Given the description of an element on the screen output the (x, y) to click on. 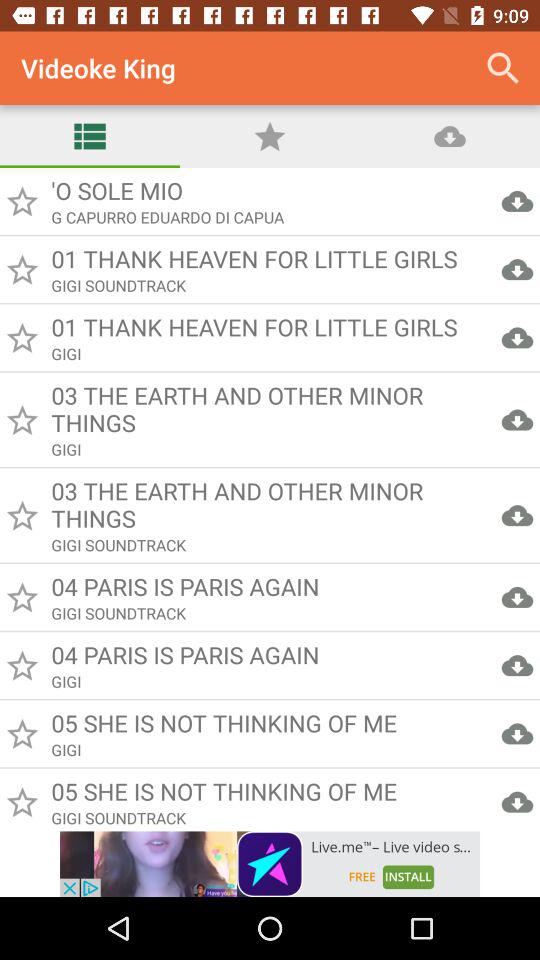
click on fourth line star icon (22, 419)
select the fifth download button (517, 515)
click on the downward arrow in the bottom (517, 802)
